Given the description of an element on the screen output the (x, y) to click on. 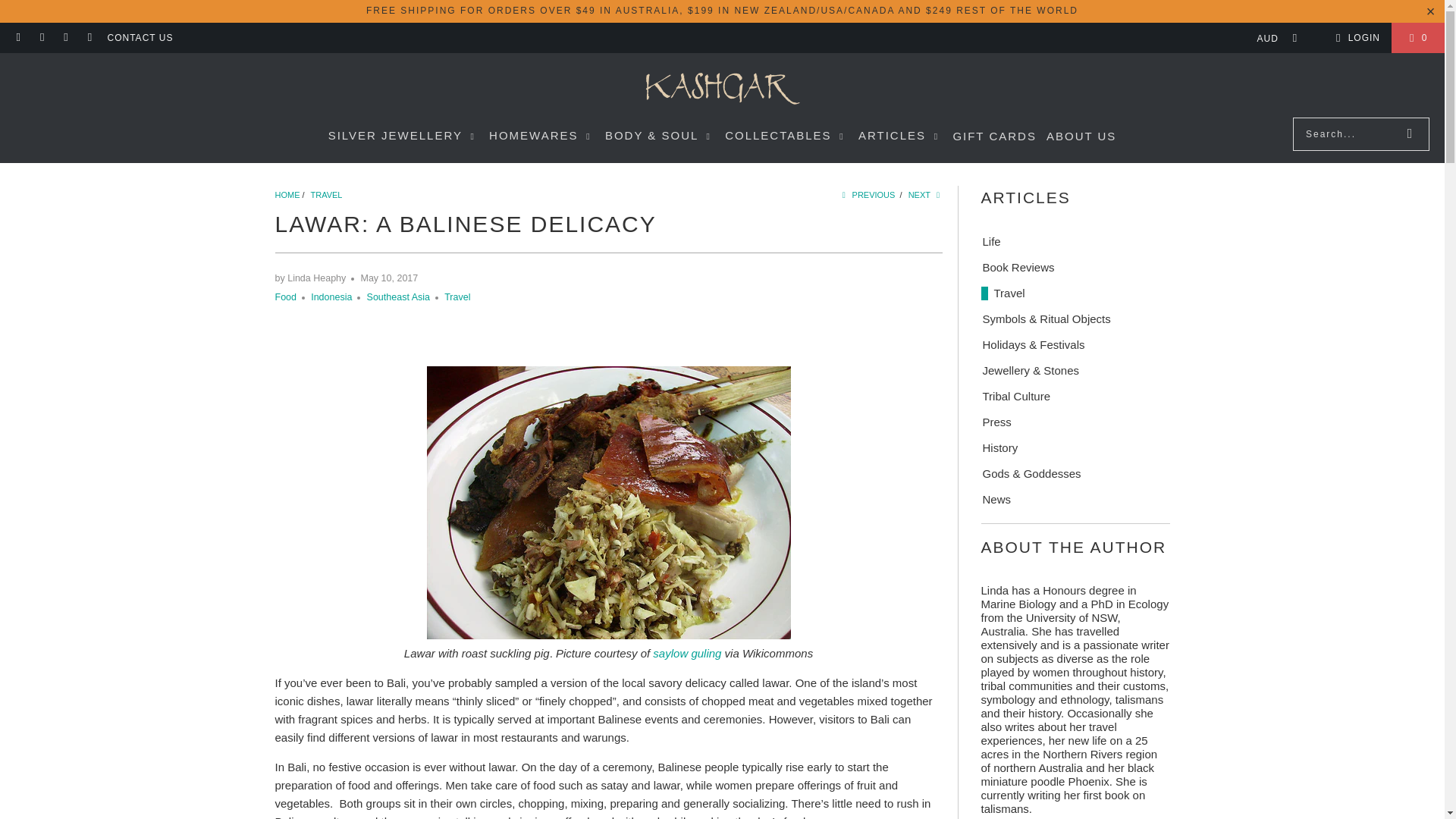
Kashgar on Facebook (41, 37)
Kashgar (722, 88)
Kashgar on Instagram (65, 37)
Kashgar on Pinterest (89, 37)
My Account  (1355, 37)
Travel tagged Indonesia (331, 296)
Travel (326, 194)
Email Kashgar (17, 37)
Travel tagged Southeast Asia (397, 296)
Kashgar (287, 194)
Travel tagged Food (286, 296)
